Given the description of an element on the screen output the (x, y) to click on. 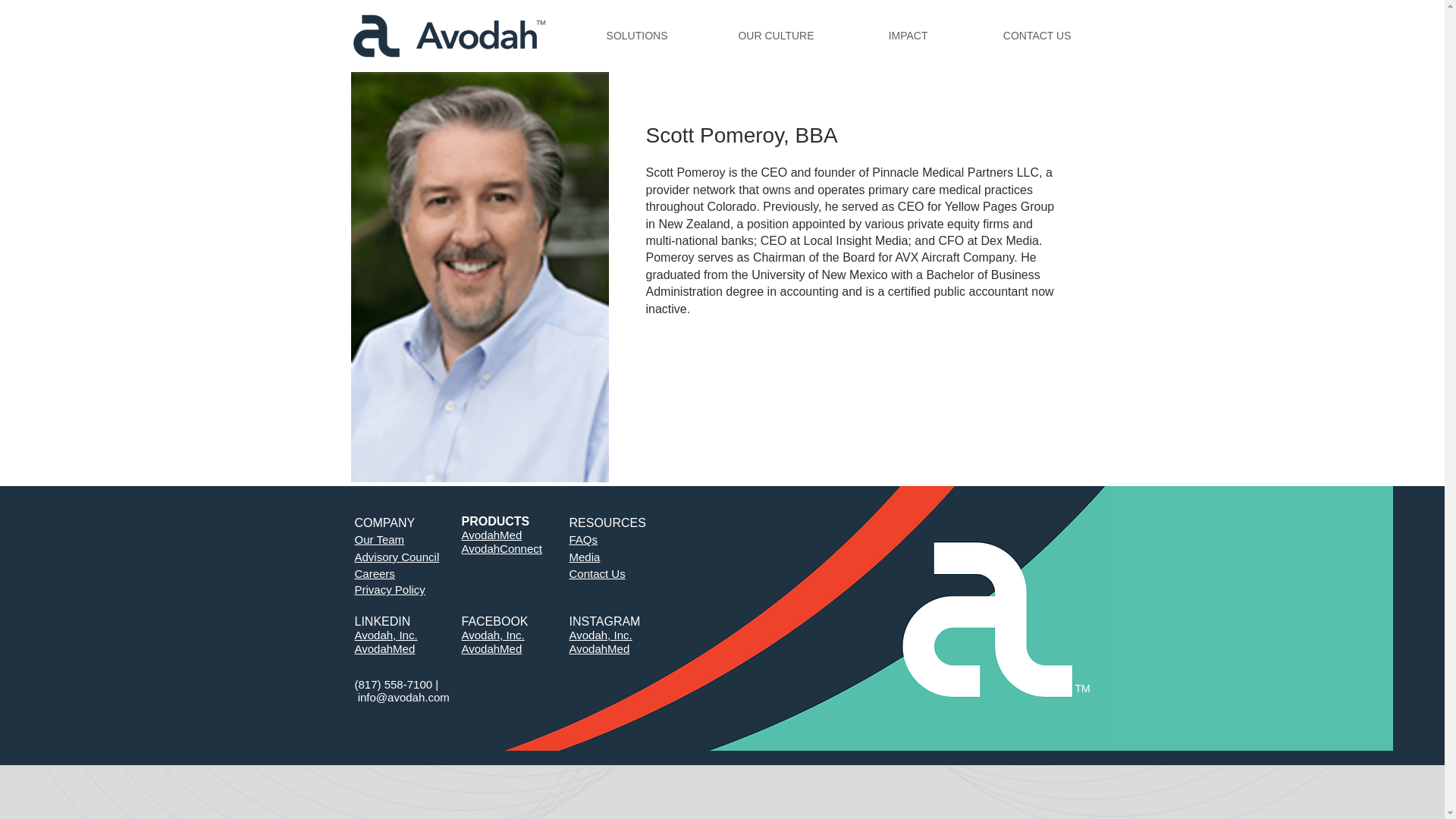
FAQs (582, 539)
Avodah (448, 35)
Advisory Council (397, 556)
Avodah teal (1252, 618)
Careers (374, 573)
Privacy Policy (390, 589)
Our Tea (374, 539)
AvodahMed (384, 648)
AvodahConnect (501, 548)
